Given the description of an element on the screen output the (x, y) to click on. 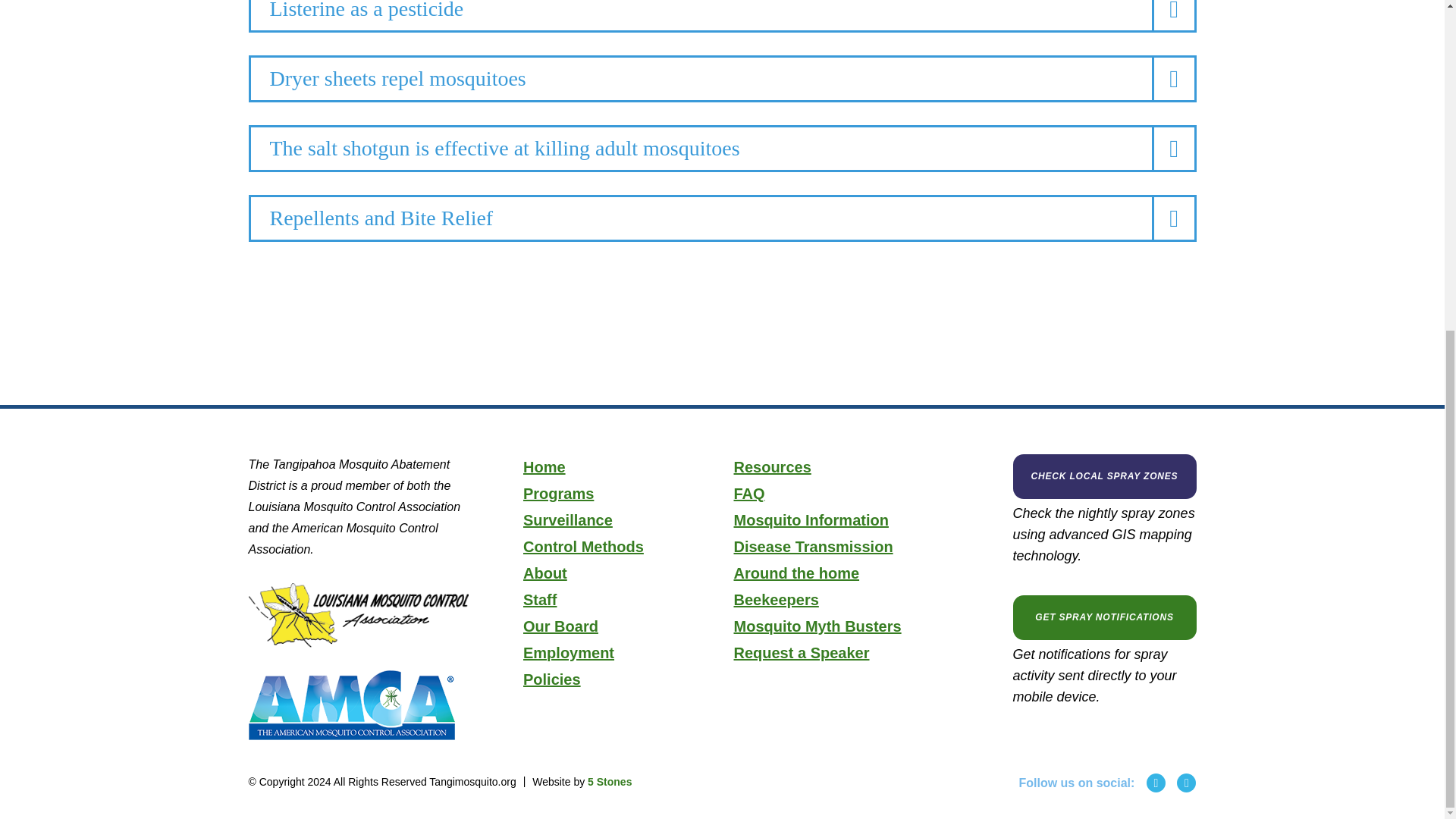
Home (544, 466)
Programs (558, 493)
